Given the description of an element on the screen output the (x, y) to click on. 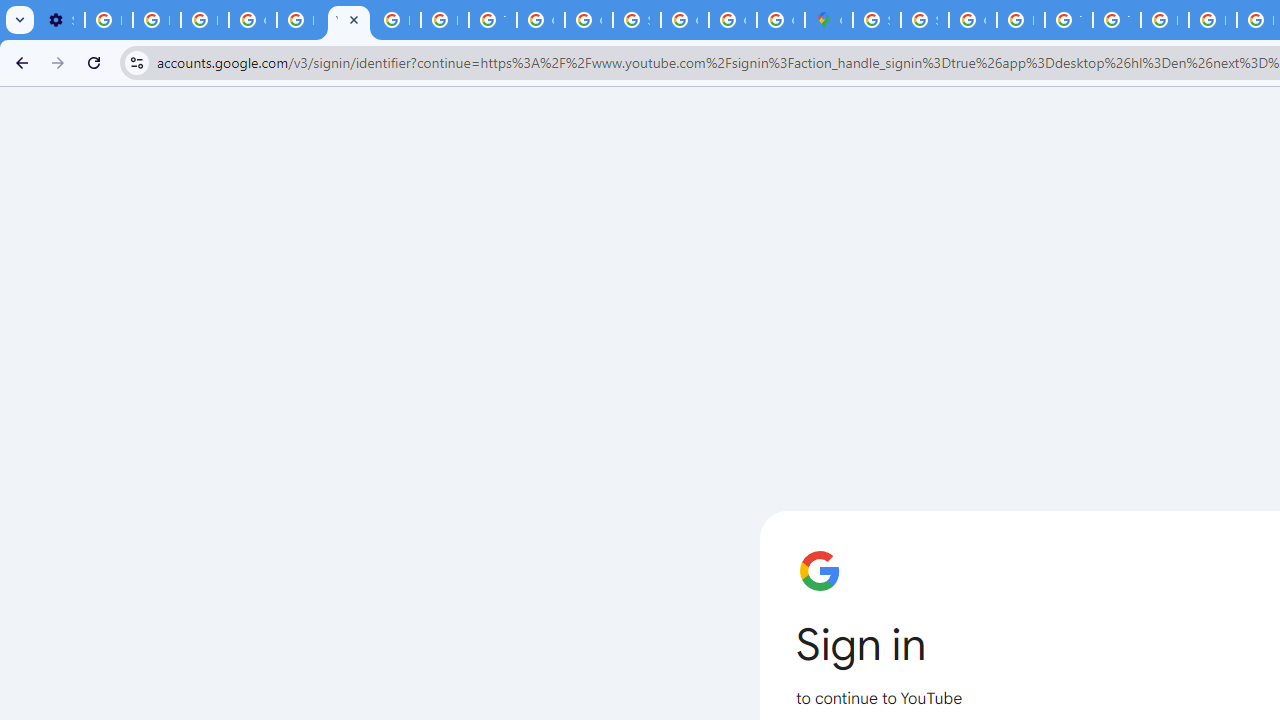
Terms and Conditions (1116, 20)
Privacy Help Center - Policies Help (444, 20)
YouTube (348, 20)
Delete photos & videos - Computer - Google Photos Help (108, 20)
Google Maps (828, 20)
